Given the description of an element on the screen output the (x, y) to click on. 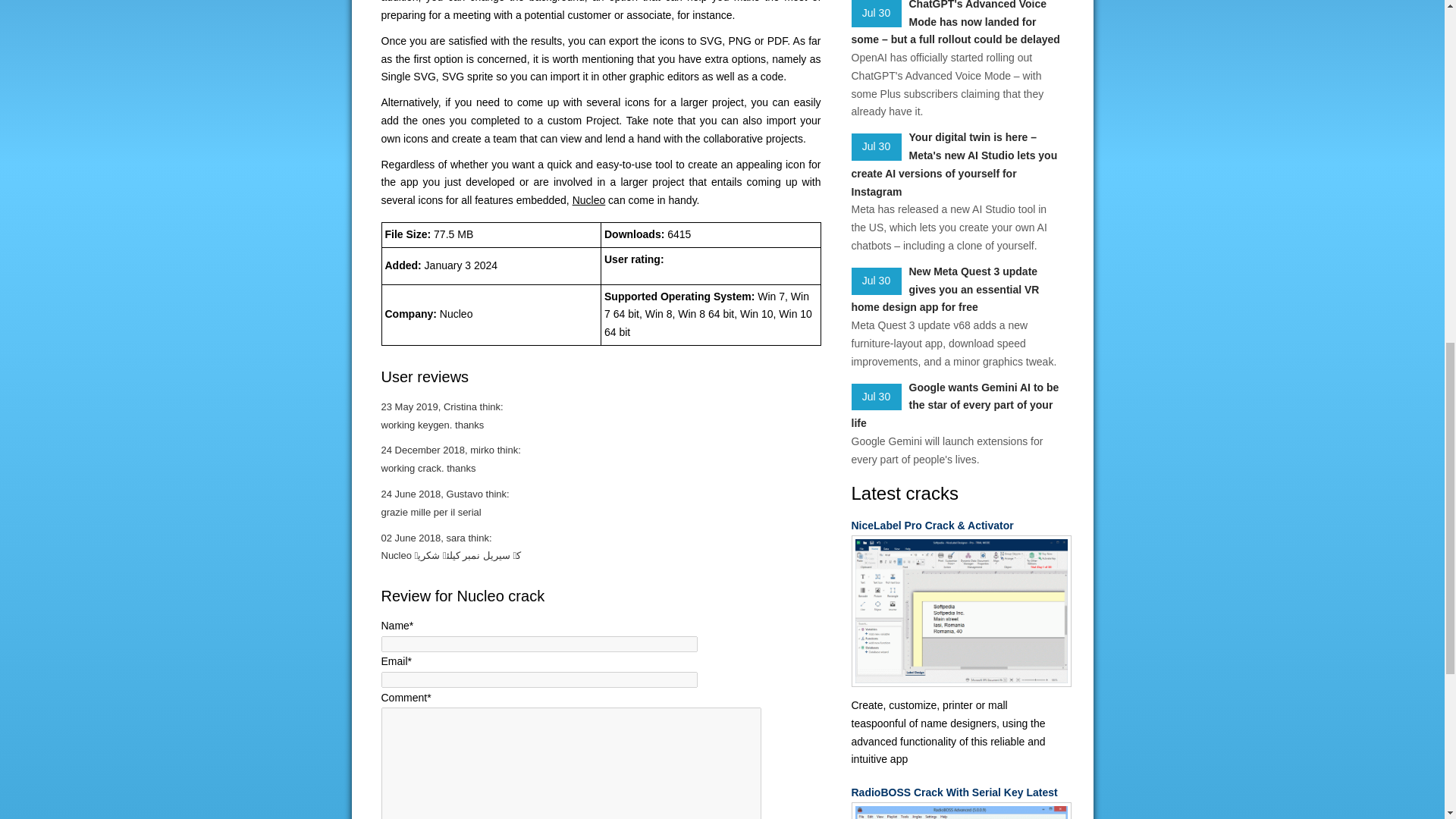
RadioBOSS Crack With Serial Key Latest (956, 792)
